Given the description of an element on the screen output the (x, y) to click on. 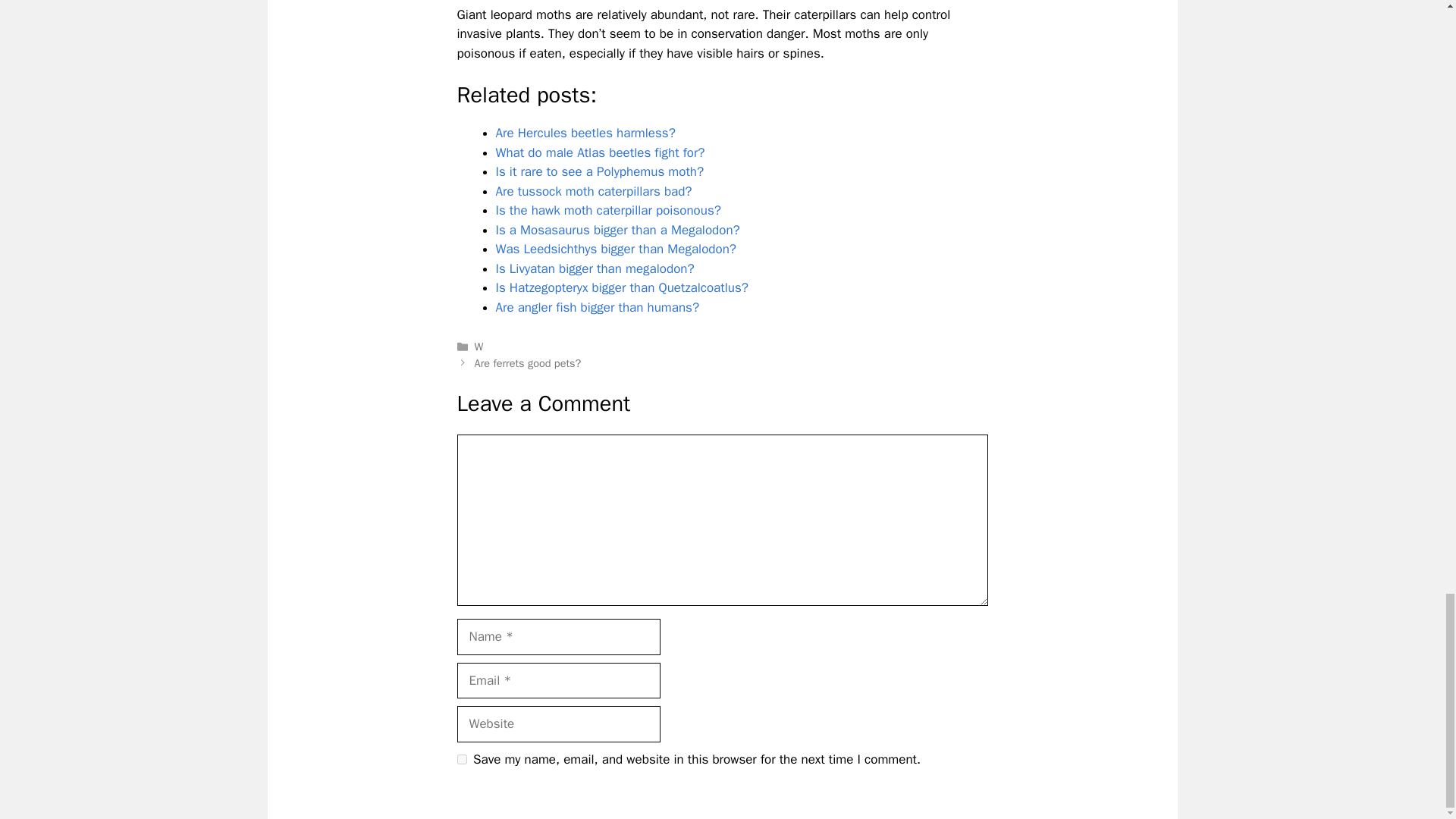
Is it rare to see a Polyphemus moth? (600, 171)
What do male Atlas beetles fight for? (600, 152)
Is the hawk moth caterpillar poisonous? (608, 210)
Are Hercules beetles harmless? (585, 132)
Are tussock moth caterpillars bad? (594, 191)
Is it rare to see a Polyphemus moth? (600, 171)
Are Hercules beetles harmless? (585, 132)
Are angler fish bigger than humans? (598, 307)
Are ferrets good pets? (527, 363)
Is the hawk moth caterpillar poisonous? (608, 210)
